Given the description of an element on the screen output the (x, y) to click on. 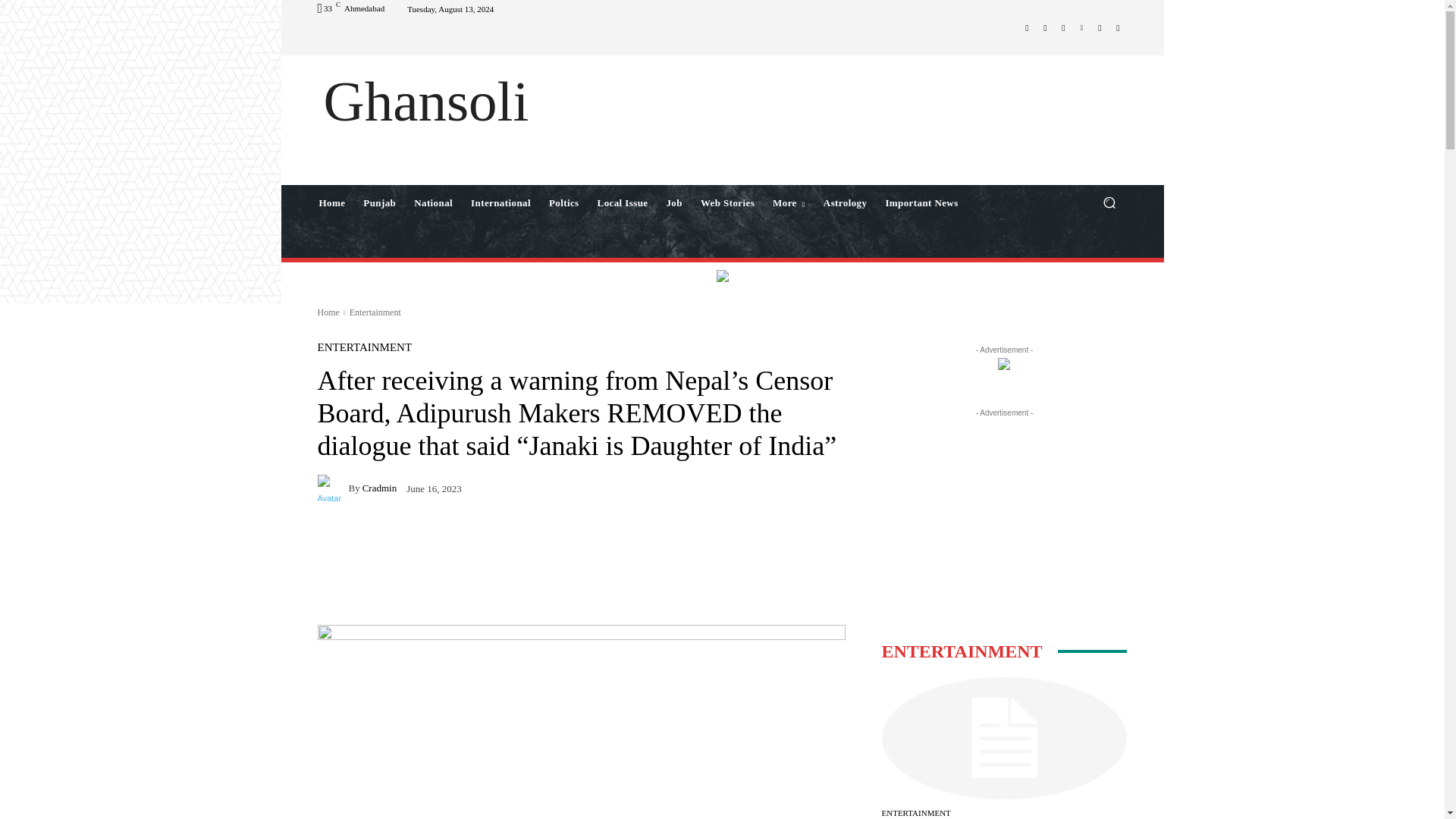
WhatsApp (1099, 27)
Facebook (1026, 27)
Youtube (1117, 27)
Mail (1062, 27)
Instagram (1044, 27)
Twitter (1080, 27)
ads (722, 275)
